Given the description of an element on the screen output the (x, y) to click on. 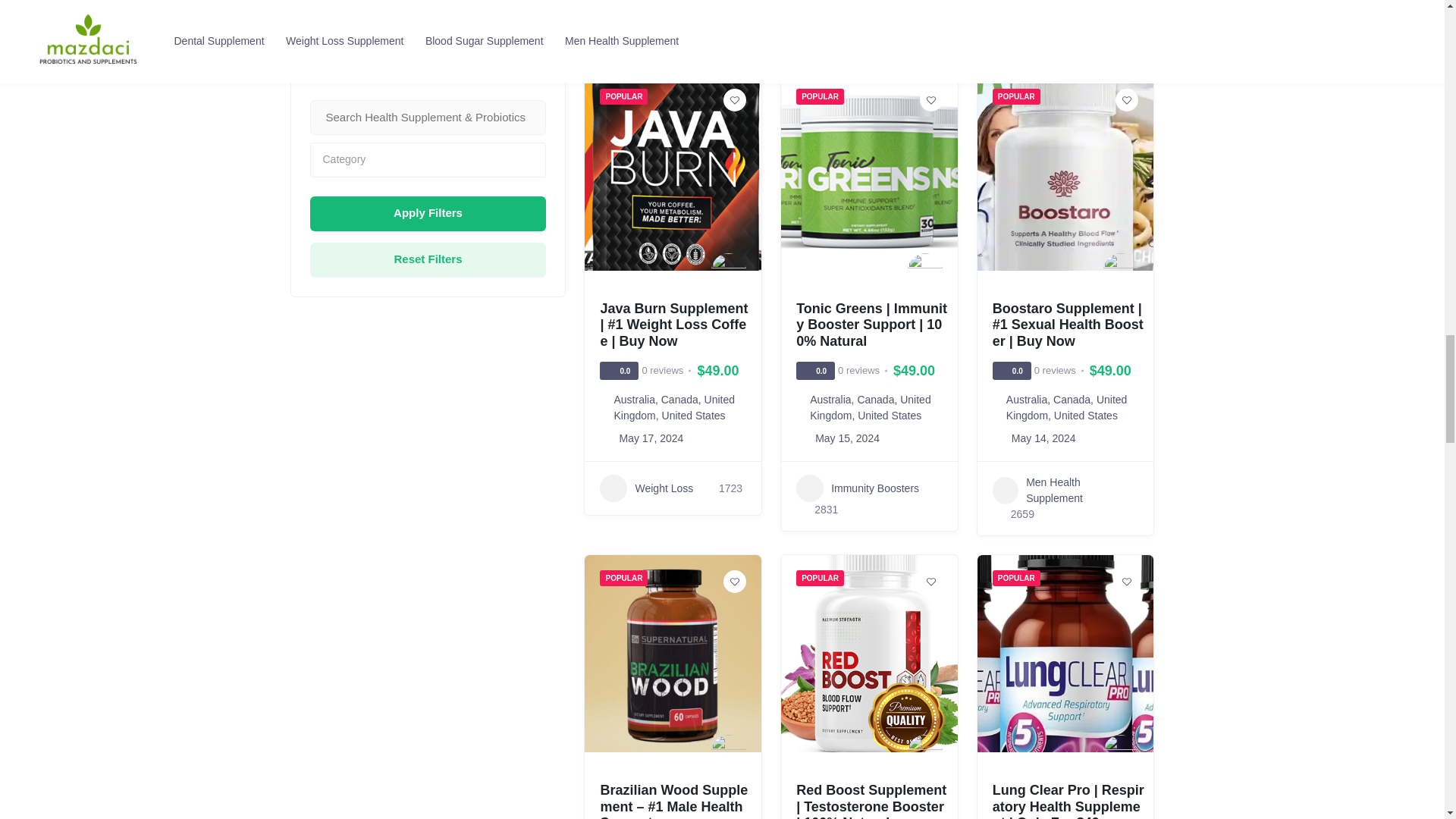
Show Map (333, 31)
Sort By (424, 30)
Australia (632, 399)
Reset Filters (427, 259)
Canada (679, 399)
Apply Filters (427, 212)
